Given the description of an element on the screen output the (x, y) to click on. 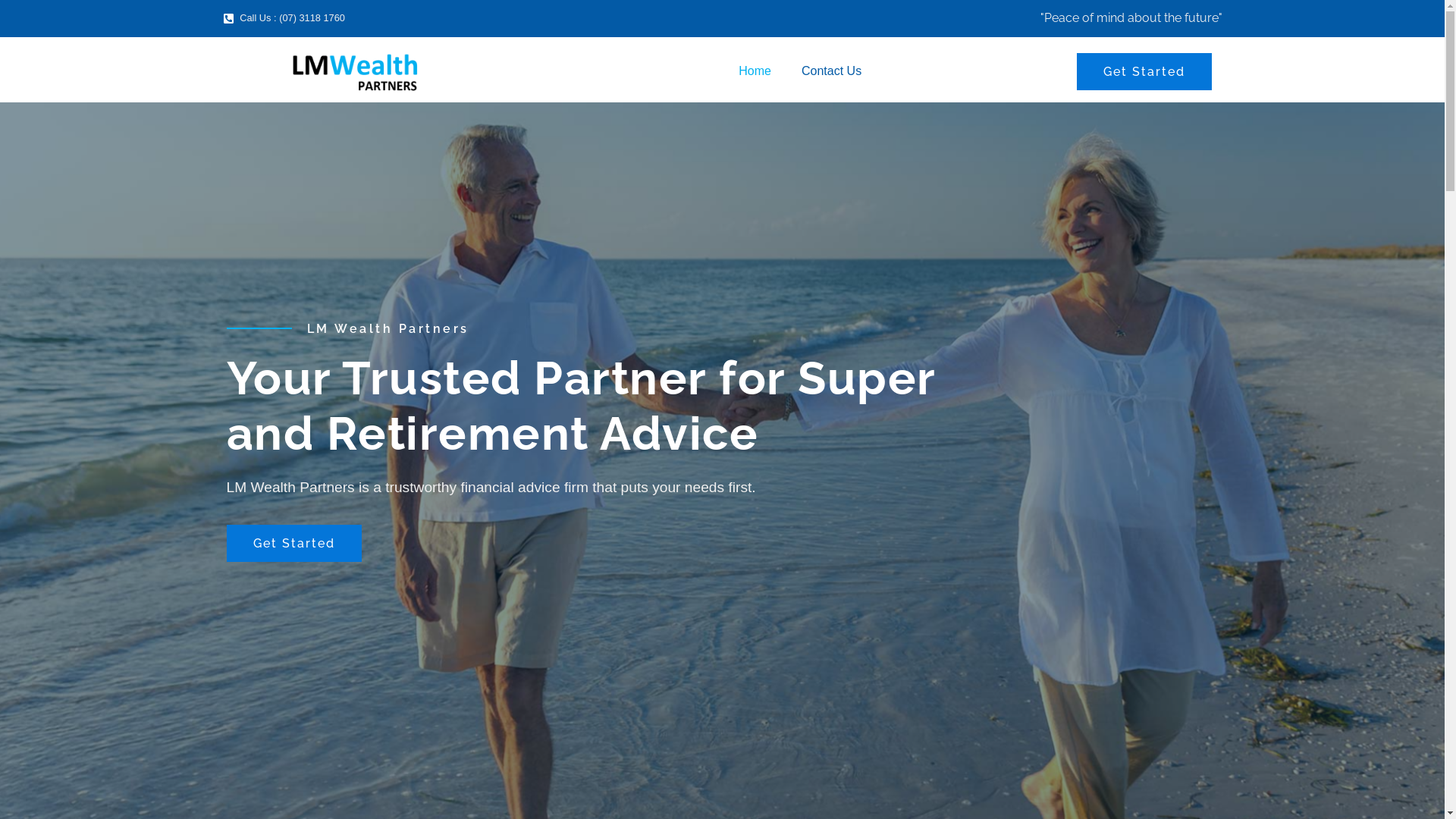
Get Started Element type: text (1143, 71)
Contact Us Element type: text (831, 70)
Home Element type: text (754, 70)
Get Started Element type: text (292, 542)
